Given the description of an element on the screen output the (x, y) to click on. 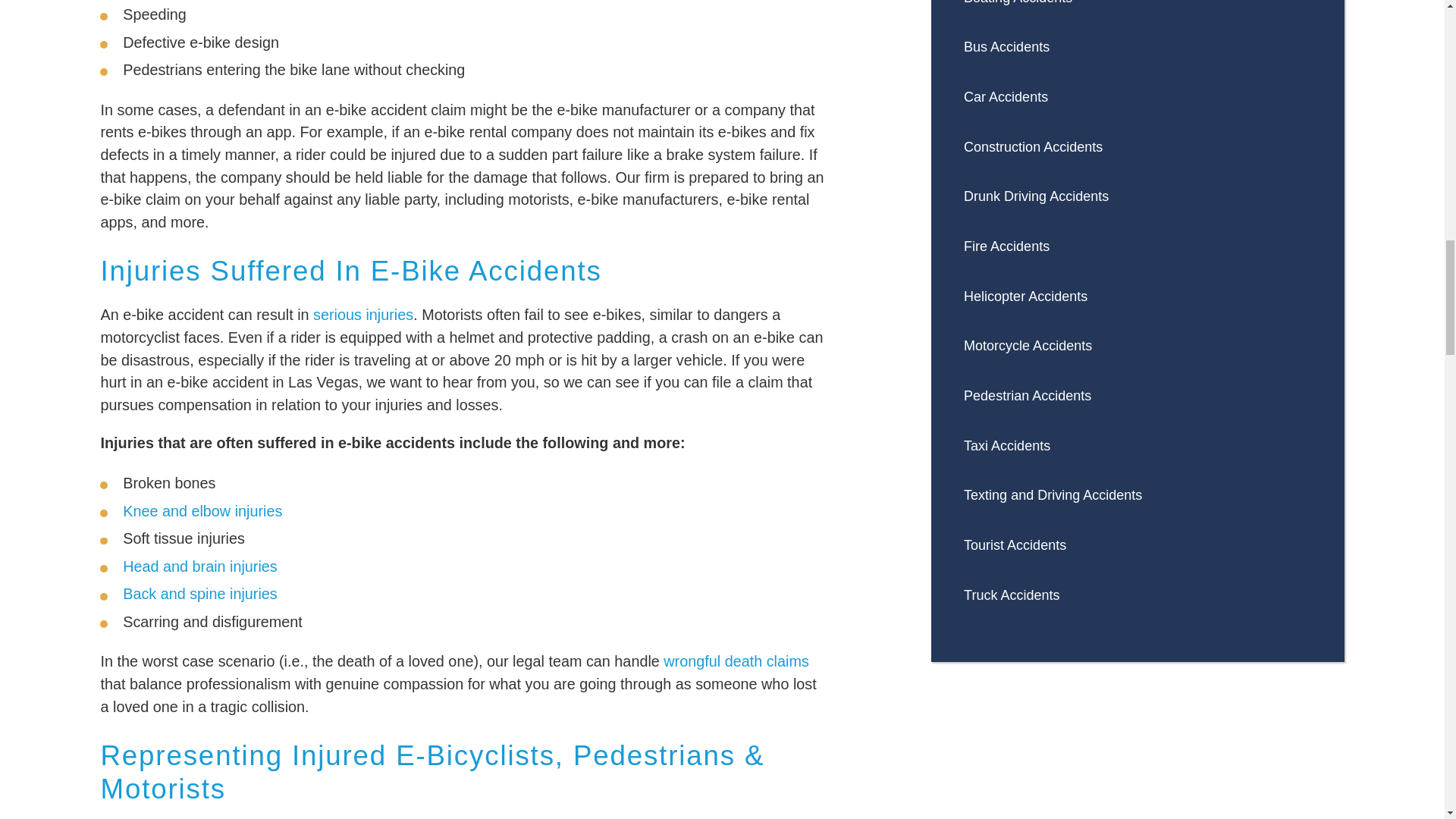
Open child menu of Car Accidents (1304, 97)
Open child menu of Pedestrian Accidents (1304, 396)
Open child menu of Truck Accidents (1304, 595)
